Given the description of an element on the screen output the (x, y) to click on. 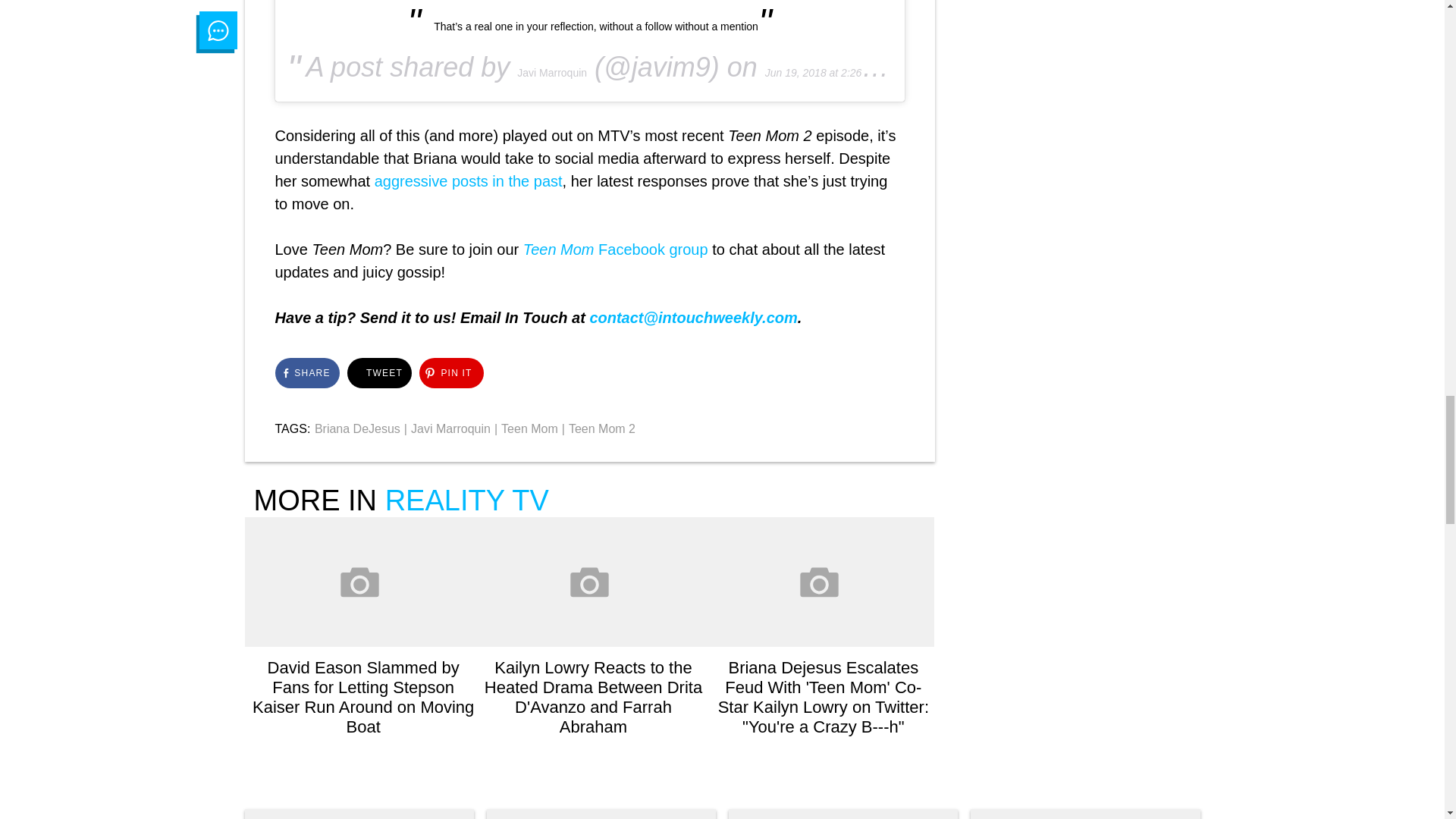
Click to share on Facebook (307, 372)
Click to share on Twitter (379, 372)
Click to share on Pinterest (451, 372)
